Given the description of an element on the screen output the (x, y) to click on. 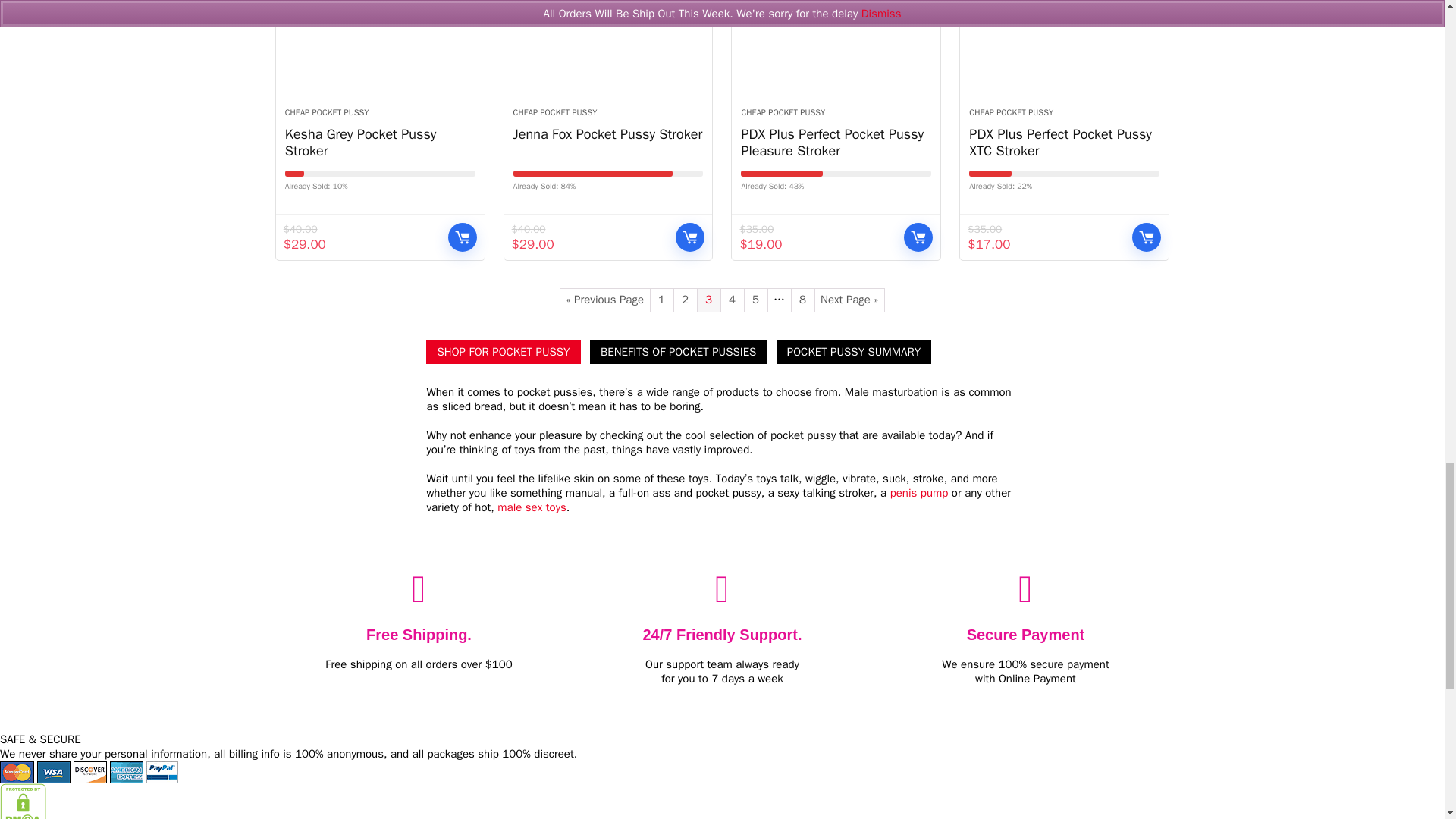
PDX Plus Perfect Pocket Pussy XTC Stroker (1063, 47)
PDX Plus Perfect Pocket Pussy Pleasure Stroker (836, 47)
Kesha Grey Pocket Pussy Stroker (380, 47)
Jenna Fox Pocket Pussy Stroker (608, 47)
DMCA.com Protection Status (23, 789)
